Given the description of an element on the screen output the (x, y) to click on. 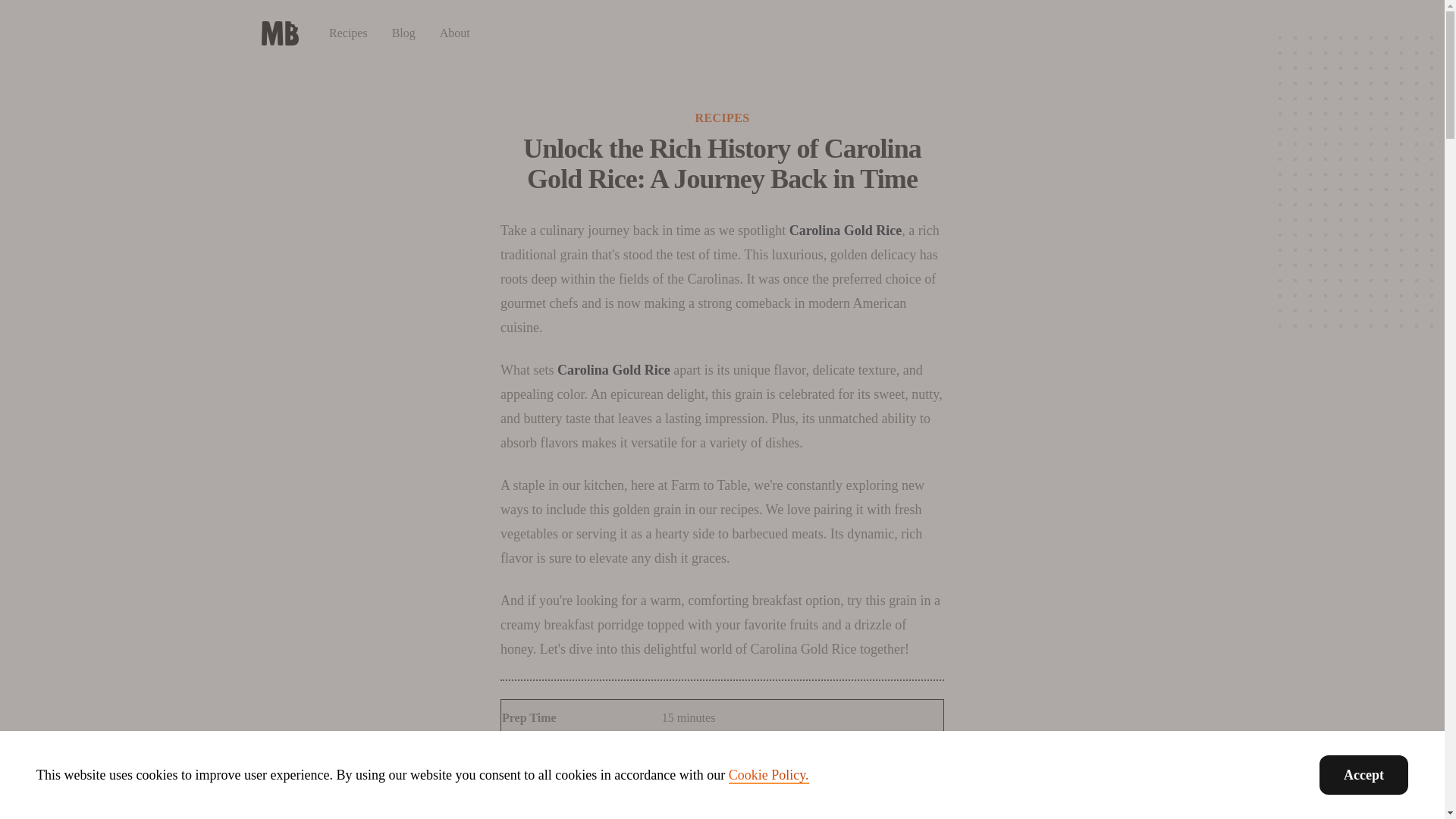
My Bite (279, 33)
Cookie Policy. (769, 775)
Recipes (348, 32)
Blog (402, 32)
Accept (1363, 774)
About (454, 32)
